Given the description of an element on the screen output the (x, y) to click on. 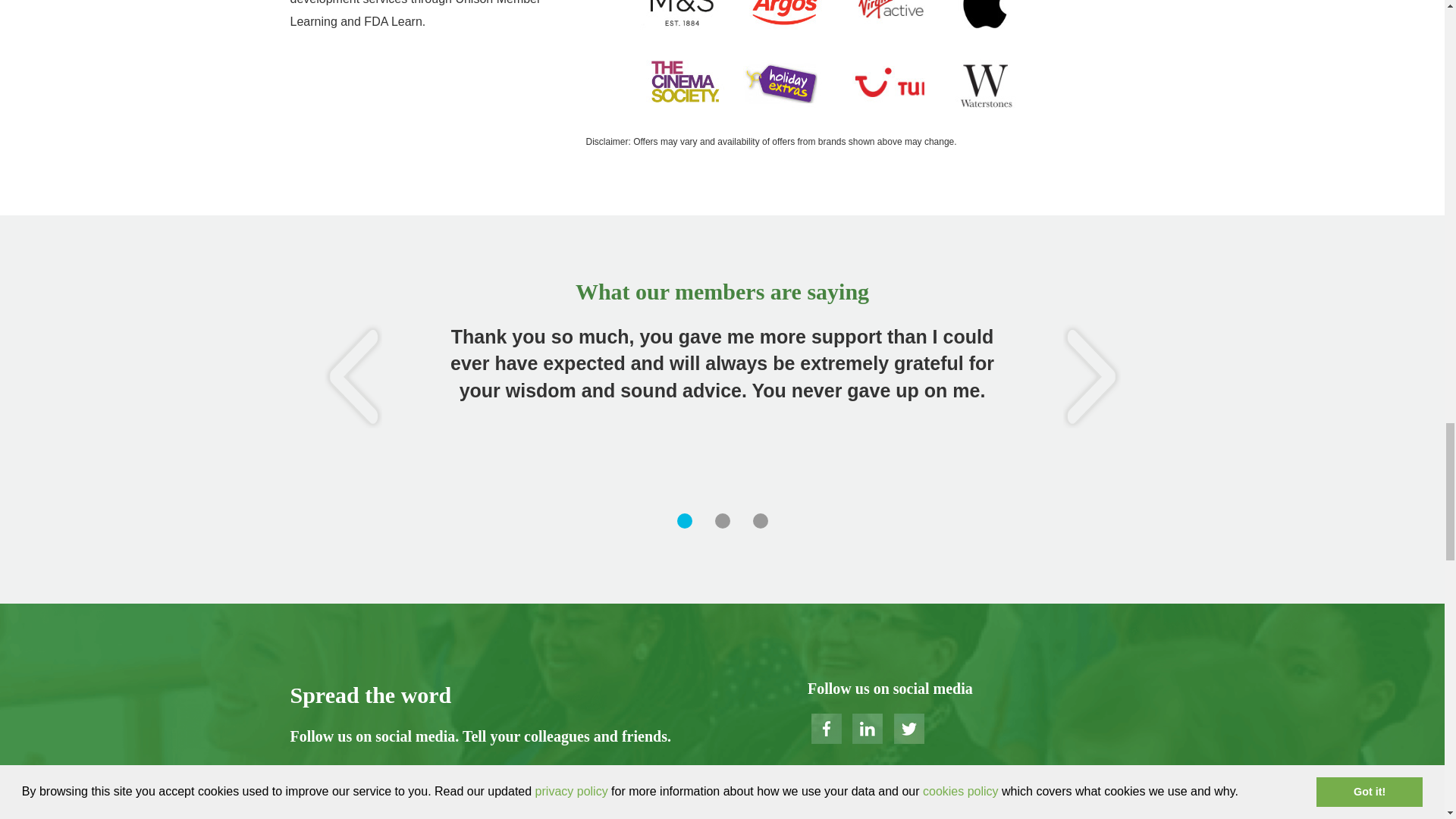
KS-Twitter (908, 728)
KS-Facebook (825, 728)
discounts-main3 (831, 64)
KS-LinkedIn (866, 728)
